Given the description of an element on the screen output the (x, y) to click on. 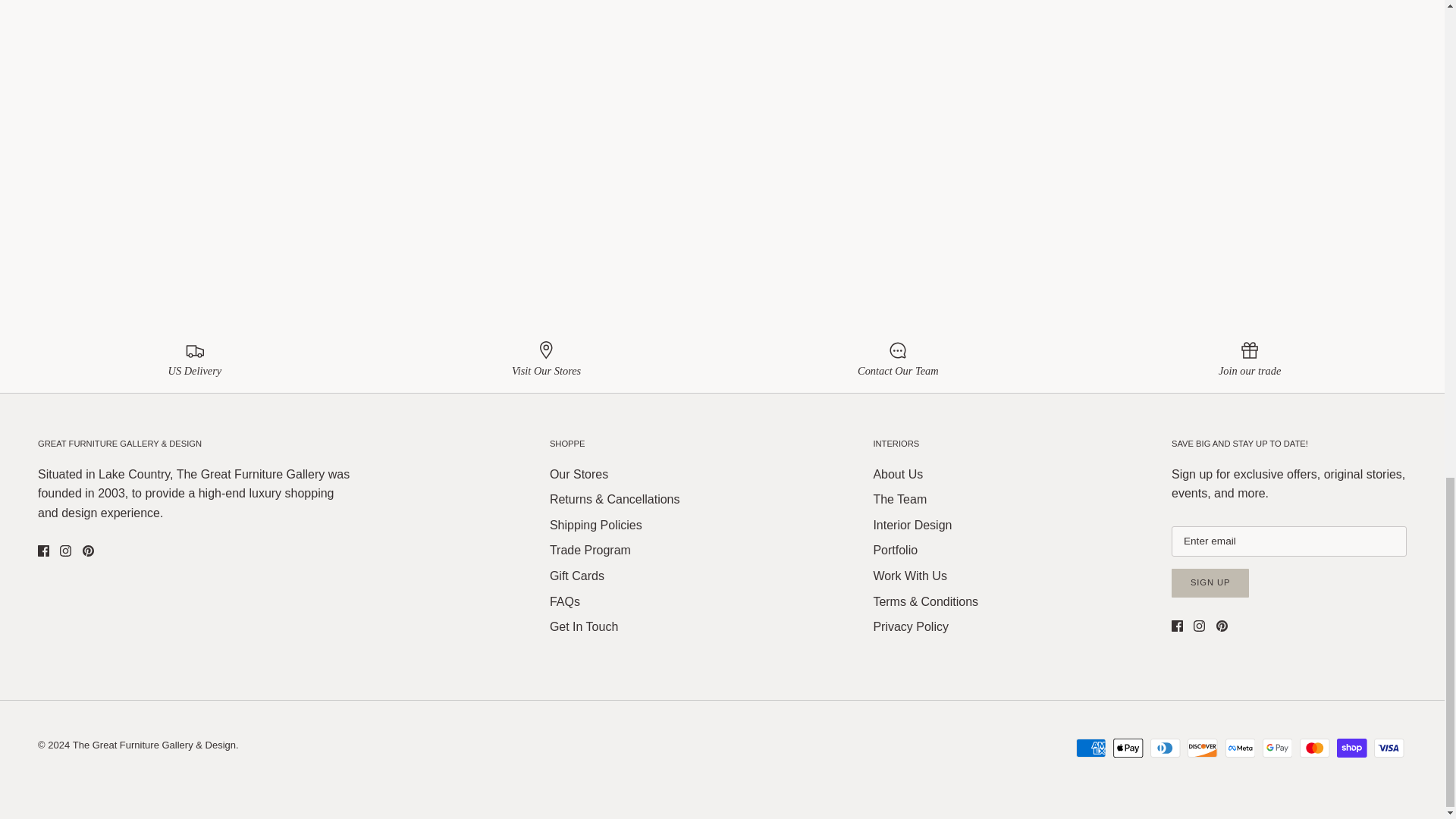
Pinterest (1221, 625)
Facebook (43, 550)
Instagram (65, 550)
Instagram (1199, 625)
Pinterest (88, 550)
Facebook (1177, 625)
American Express (1090, 747)
